Given the description of an element on the screen output the (x, y) to click on. 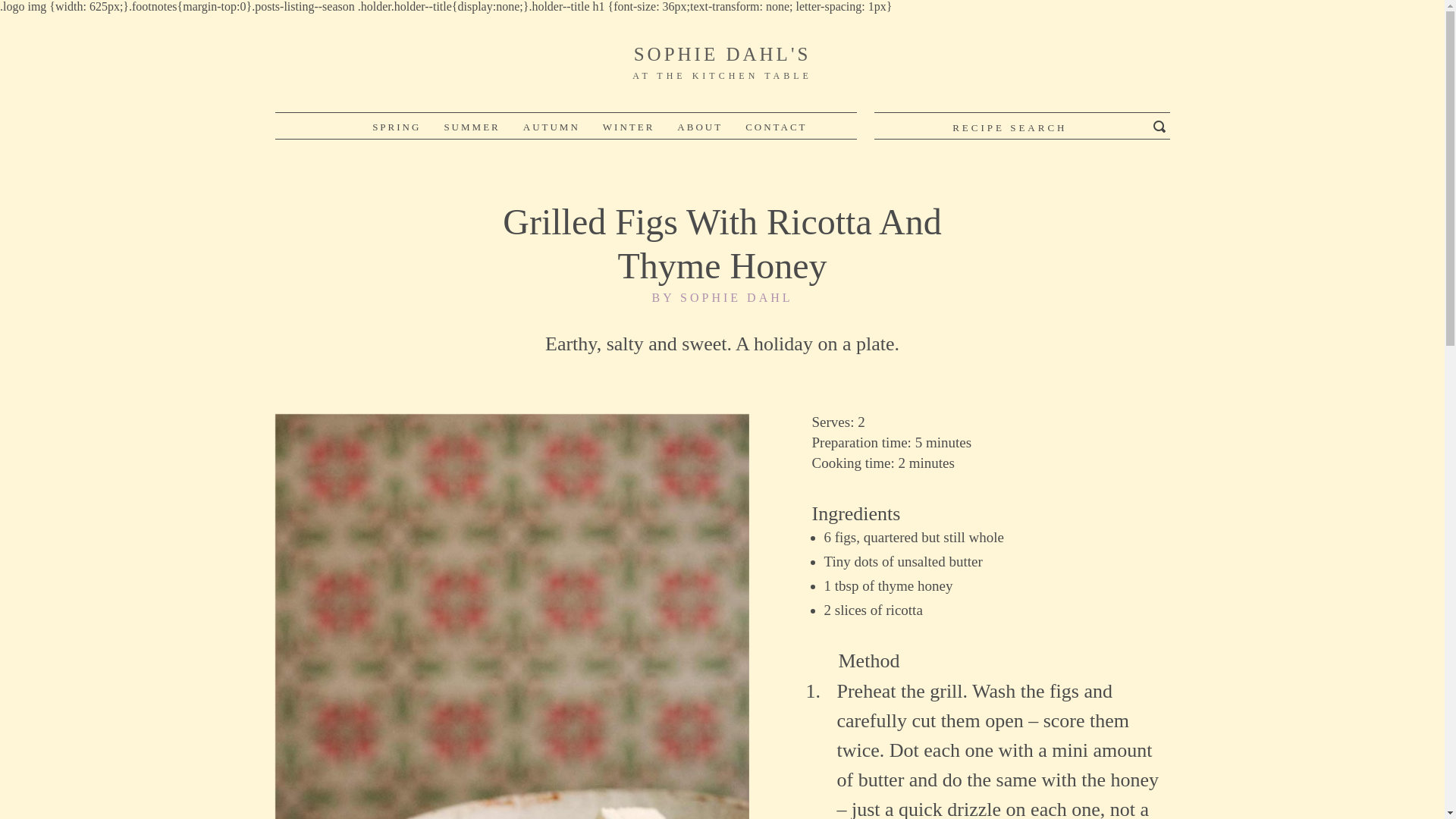
ABOUT (699, 127)
AUTUMN (551, 127)
WINTER (628, 127)
SPRING (396, 127)
CONTACT (721, 62)
SUMMER (775, 127)
